Given the description of an element on the screen output the (x, y) to click on. 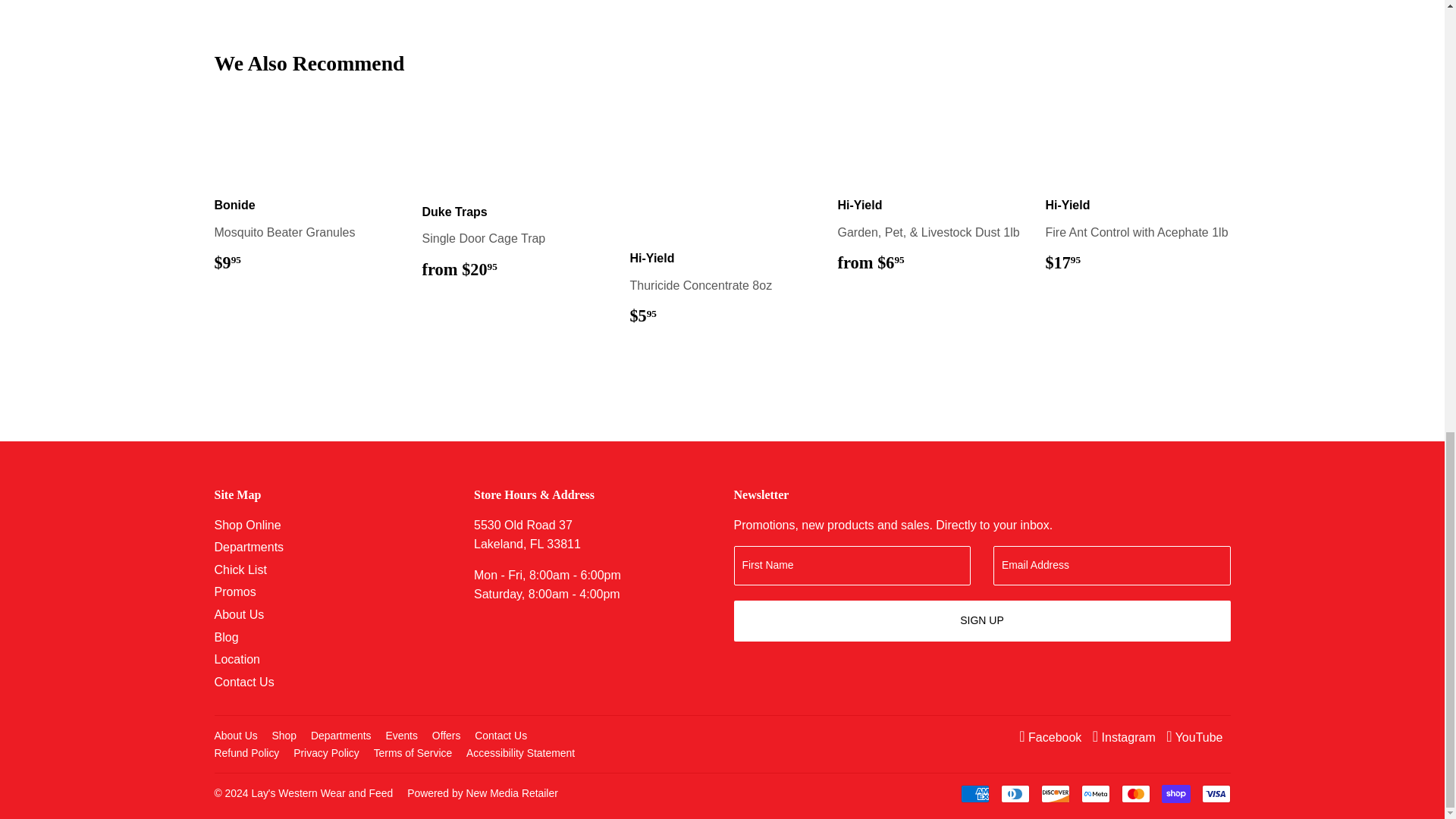
Visa (1215, 793)
Diners Club (1015, 793)
American Express (973, 793)
New Media Retailer (482, 793)
Mastercard (1135, 793)
Meta Pay (1095, 793)
Discover (1054, 793)
Shop Pay (1176, 793)
